Given the description of an element on the screen output the (x, y) to click on. 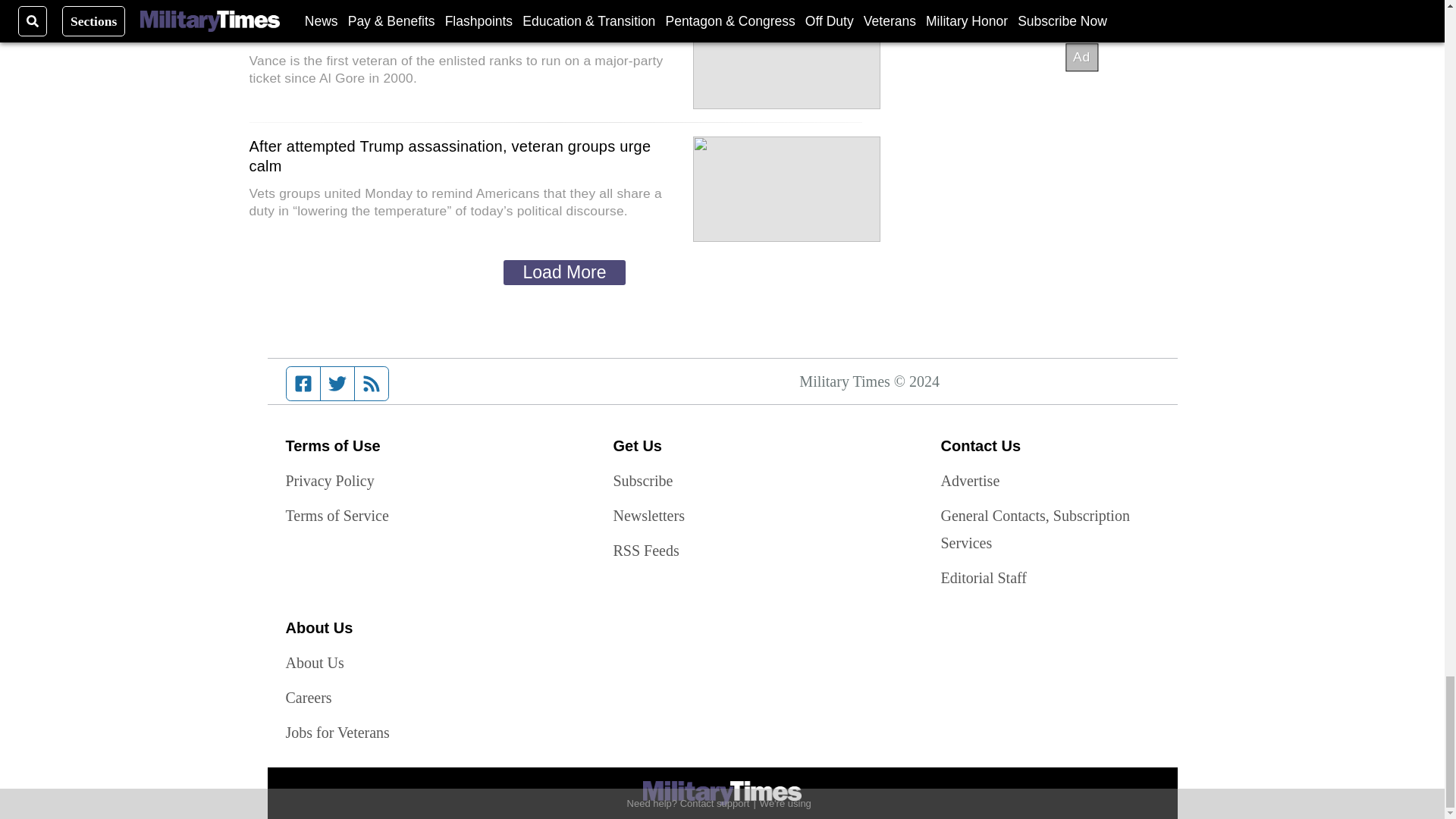
RSS feed (371, 383)
Twitter feed (336, 383)
Facebook page (303, 383)
